Given the description of an element on the screen output the (x, y) to click on. 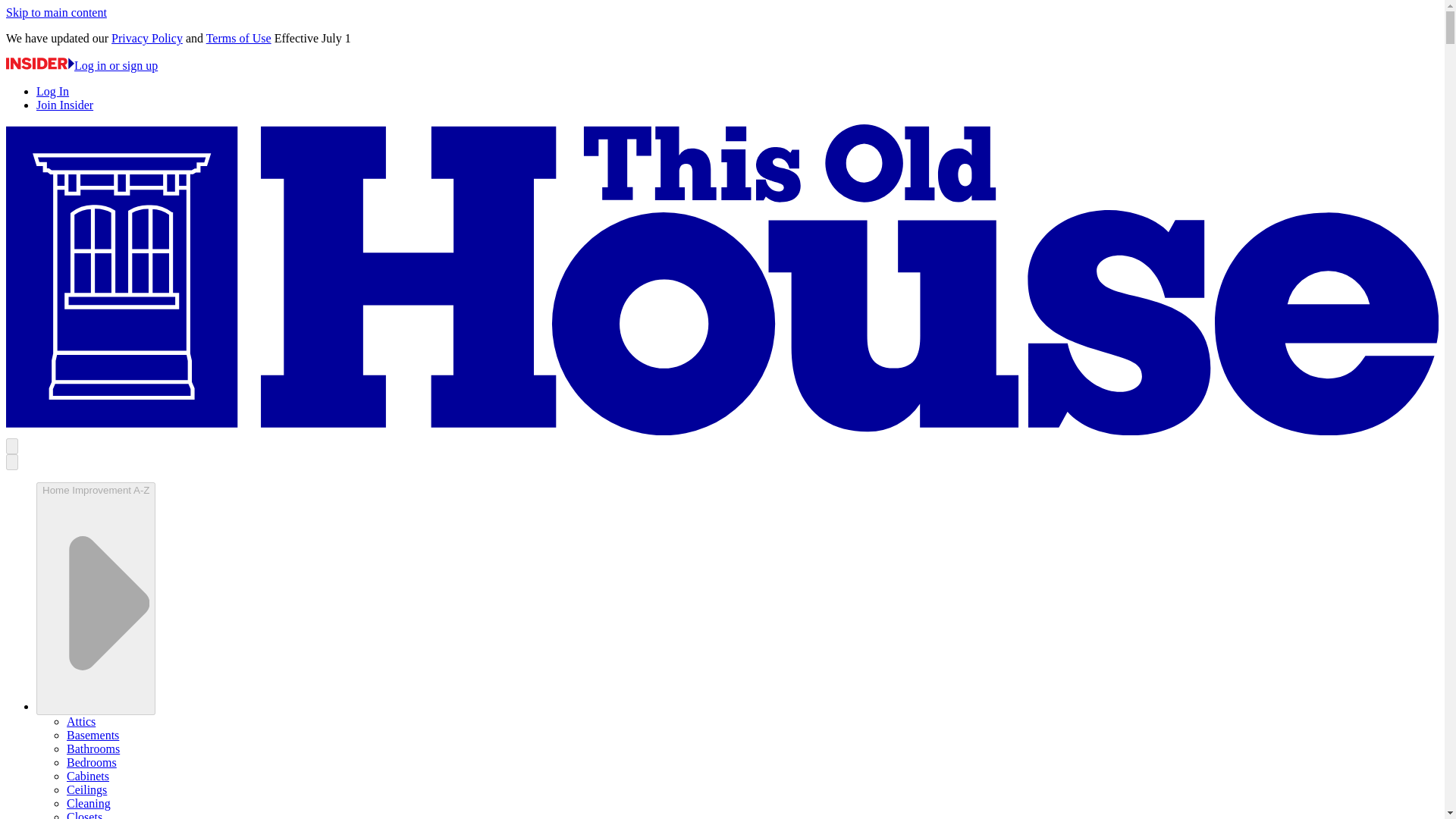
Bedrooms (91, 762)
Cabinets (87, 775)
Terms of Use (238, 38)
Skip to main content (55, 11)
Log In (52, 91)
Join Insider (64, 104)
Log in or sign up (81, 65)
Attics (81, 721)
Closets (83, 814)
Ceilings (86, 789)
Privacy Policy (147, 38)
Bathrooms (92, 748)
Basements (92, 735)
Cleaning (88, 802)
